Given the description of an element on the screen output the (x, y) to click on. 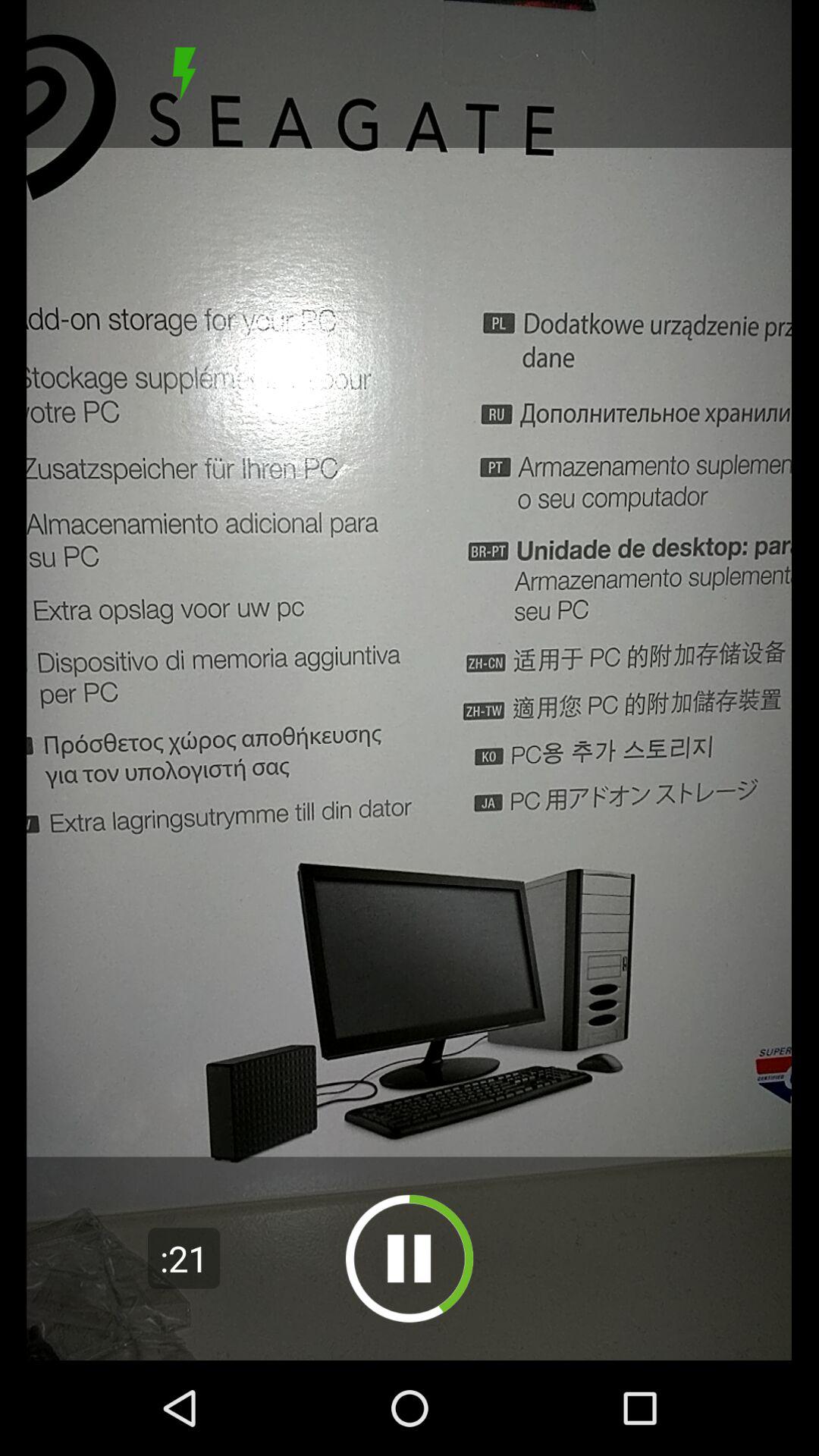
pause (409, 1258)
